Given the description of an element on the screen output the (x, y) to click on. 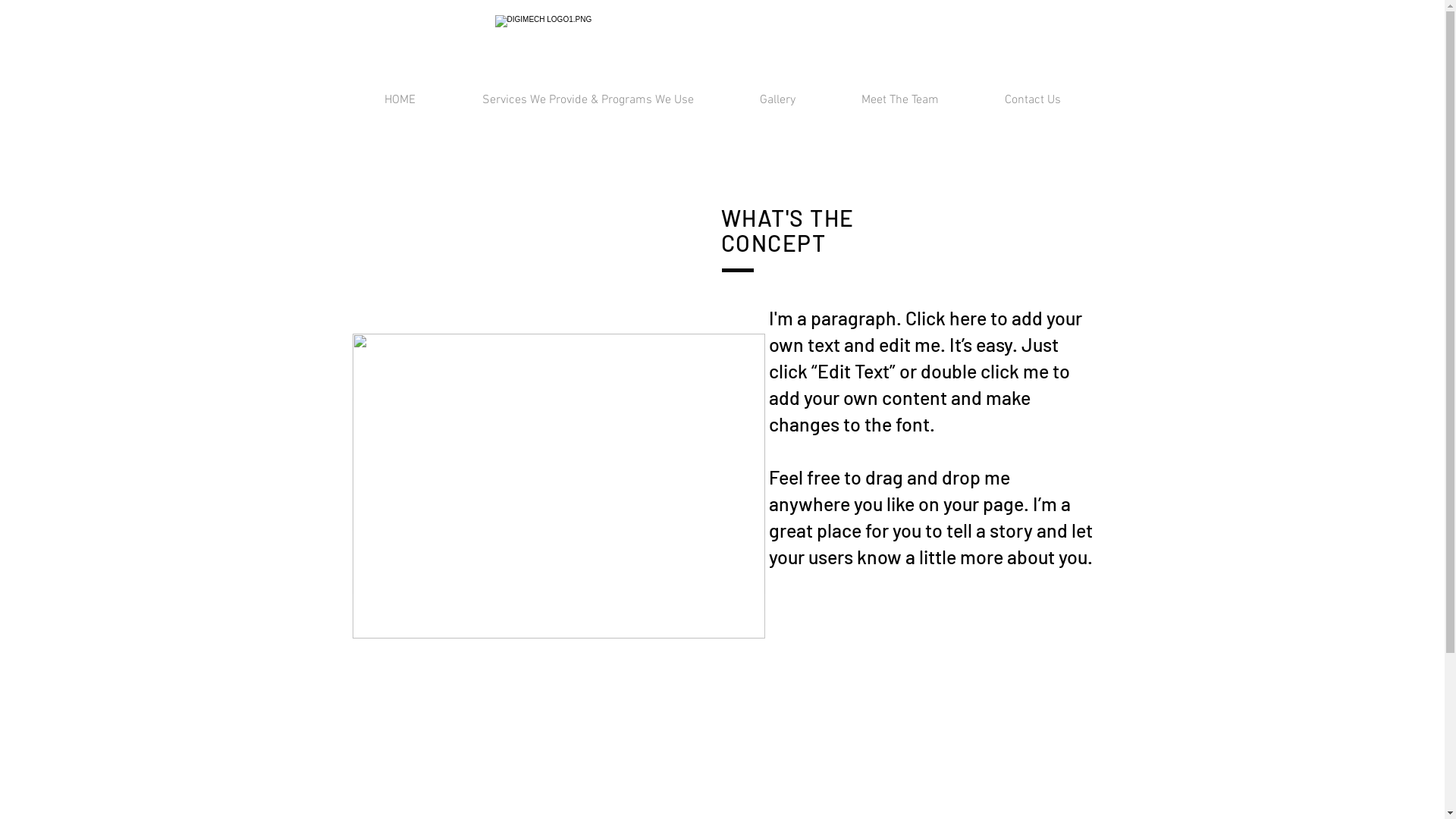
Contact Us Element type: text (1033, 99)
Meet The Team Element type: text (899, 99)
HOME Element type: text (399, 99)
Gallery Element type: text (777, 99)
Services We Provide & Programs We Use Element type: text (587, 99)
